Given the description of an element on the screen output the (x, y) to click on. 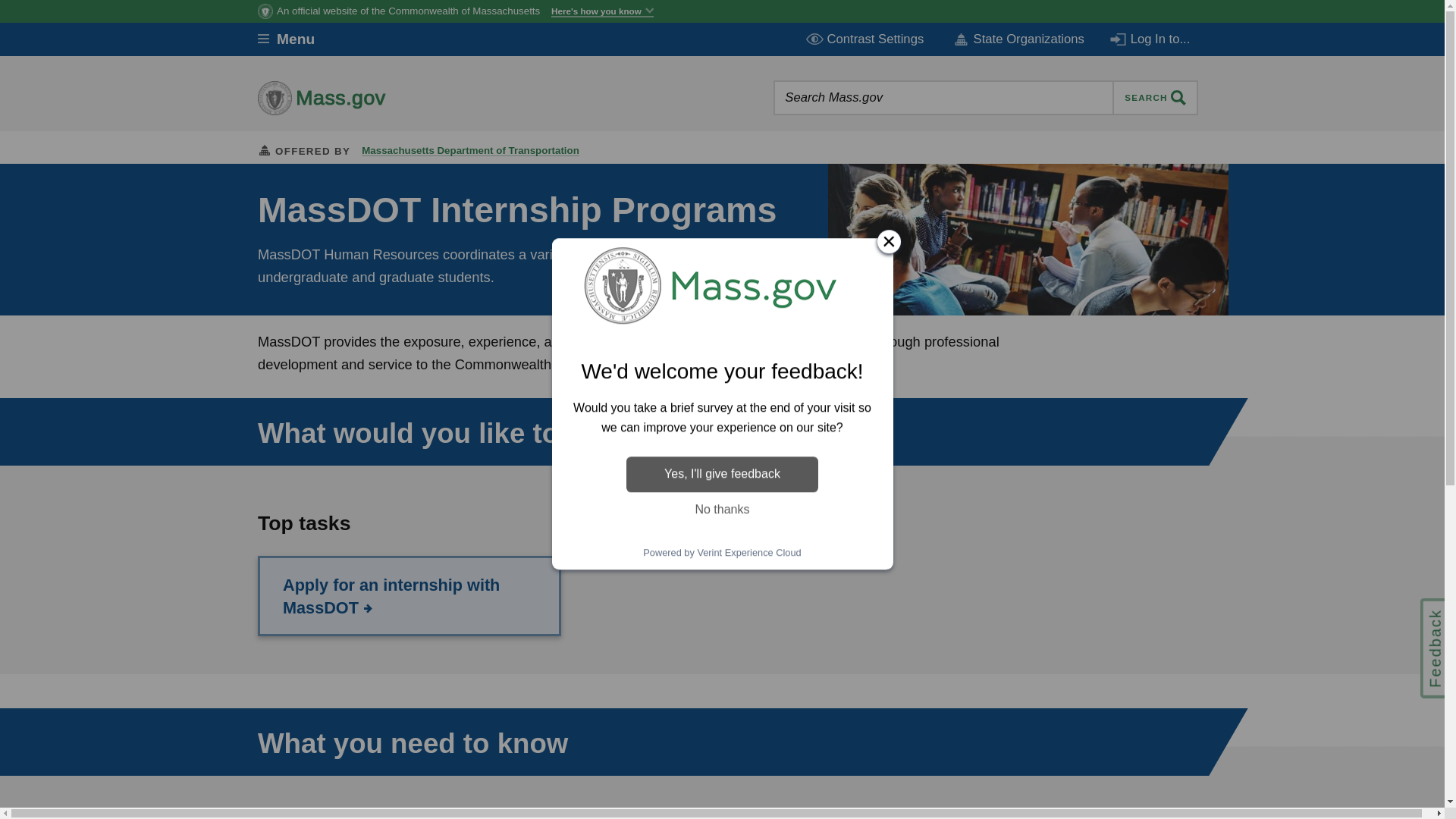
Mass.gov home page (369, 97)
Contrast Settings (866, 38)
Log In to... (1151, 38)
State Organizations (1018, 39)
Menu (297, 39)
